Given the description of an element on the screen output the (x, y) to click on. 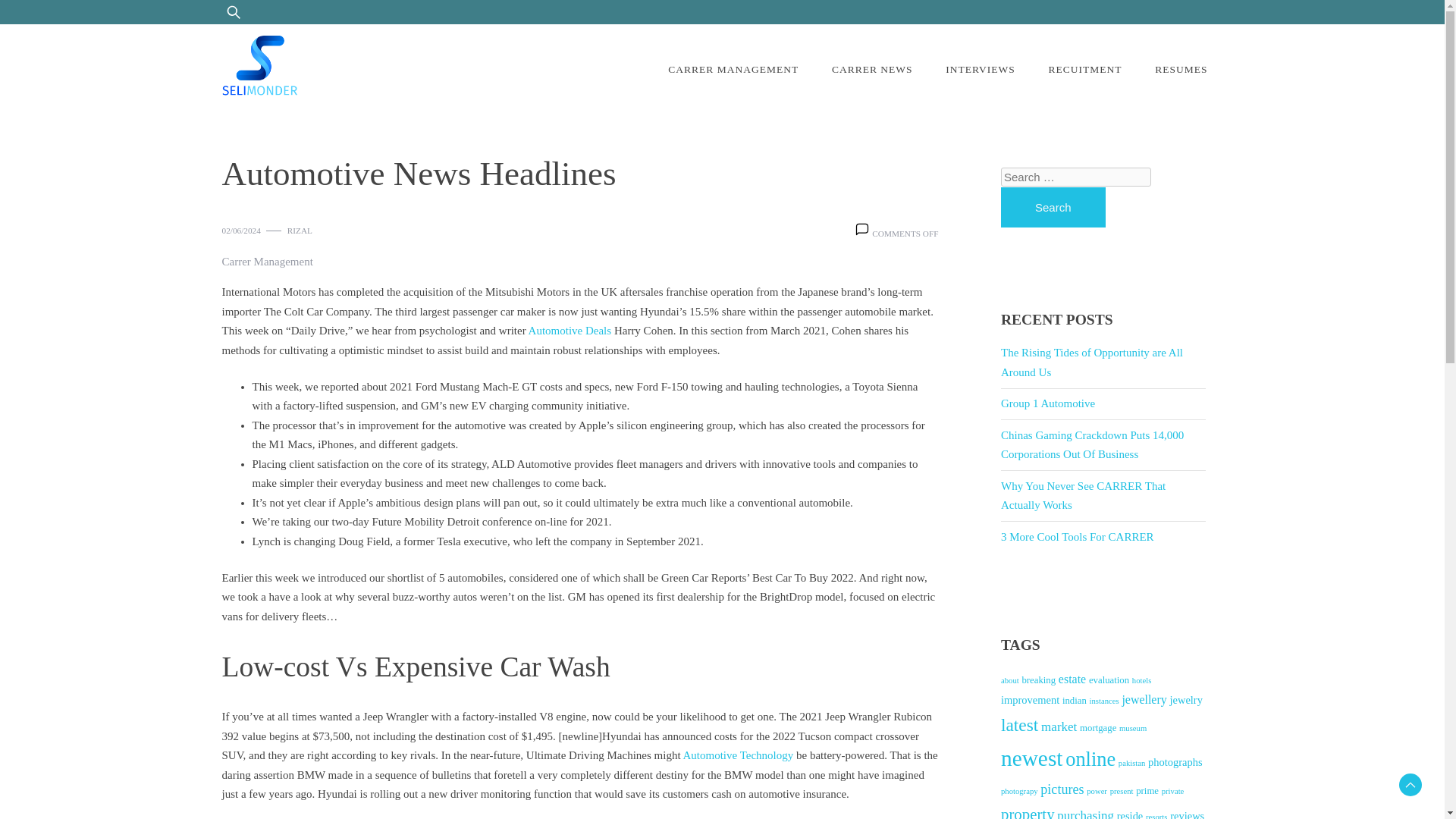
RESUMES (1181, 70)
CARRER MANAGEMENT (732, 70)
CARRER NEWS (872, 70)
about (1010, 680)
evaluation (1109, 679)
Automotive Technology (737, 755)
Search (52, 20)
RIZAL (299, 230)
Automotive Deals (569, 330)
RECUITMENT (1084, 70)
breaking (1038, 679)
The Rising Tides of Opportunity are All Around Us (1091, 362)
Carrer Management (267, 261)
Search (1053, 207)
INTERVIEWS (979, 70)
